Given the description of an element on the screen output the (x, y) to click on. 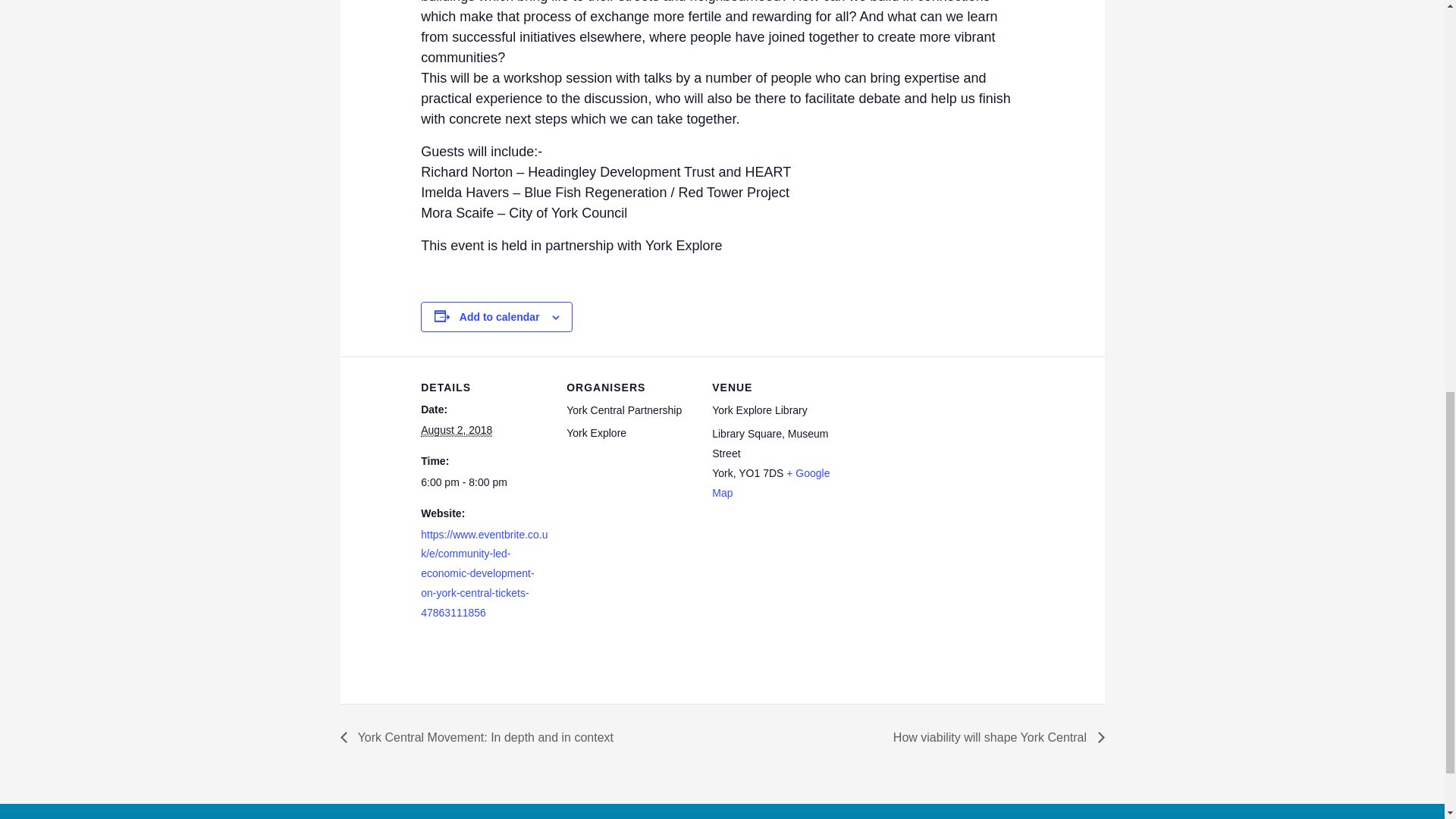
Add to calendar (500, 316)
2018-08-02 (456, 430)
2018-08-02 (484, 483)
